Given the description of an element on the screen output the (x, y) to click on. 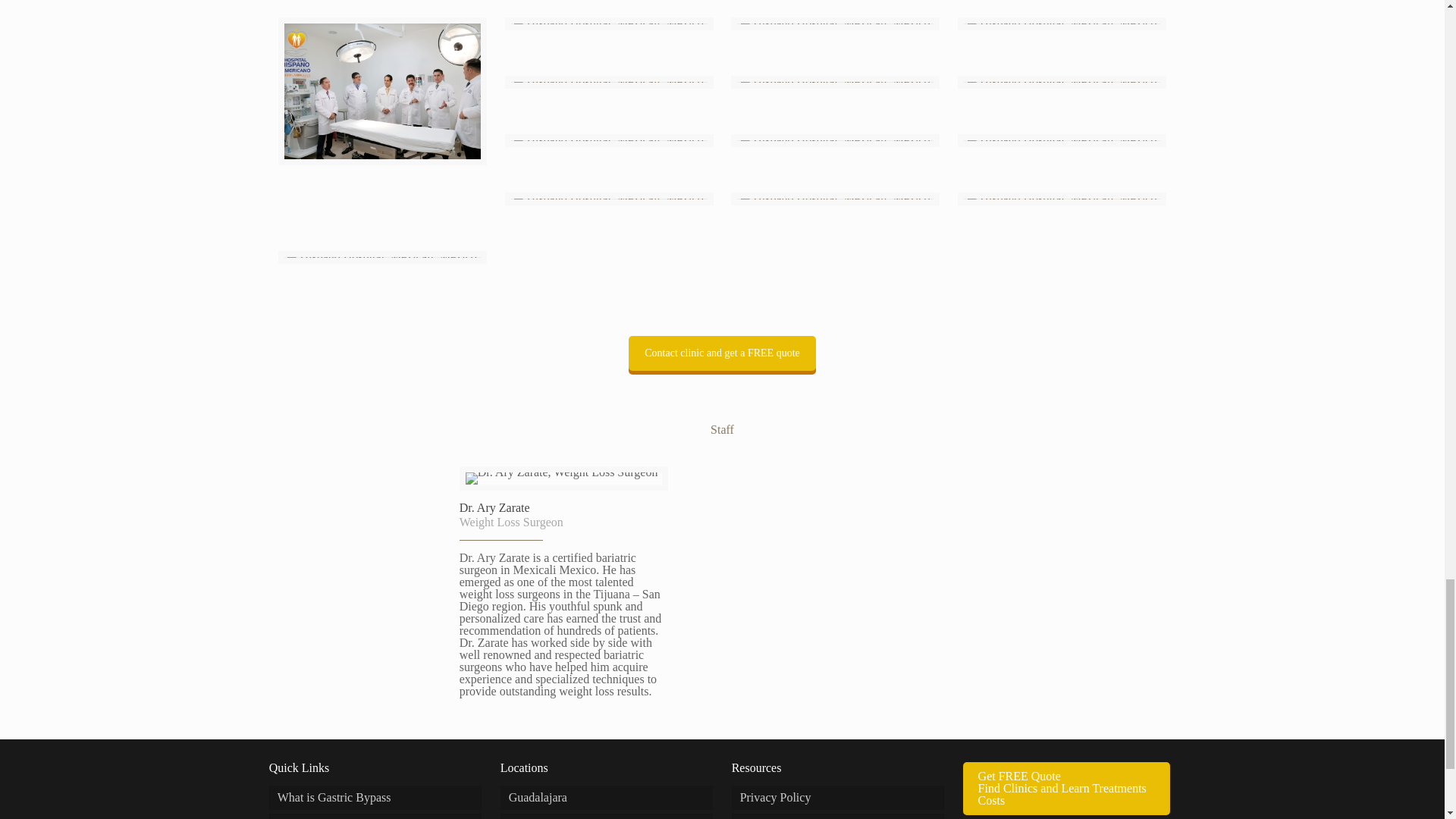
Hispano Hospital (381, 90)
